Given the description of an element on the screen output the (x, y) to click on. 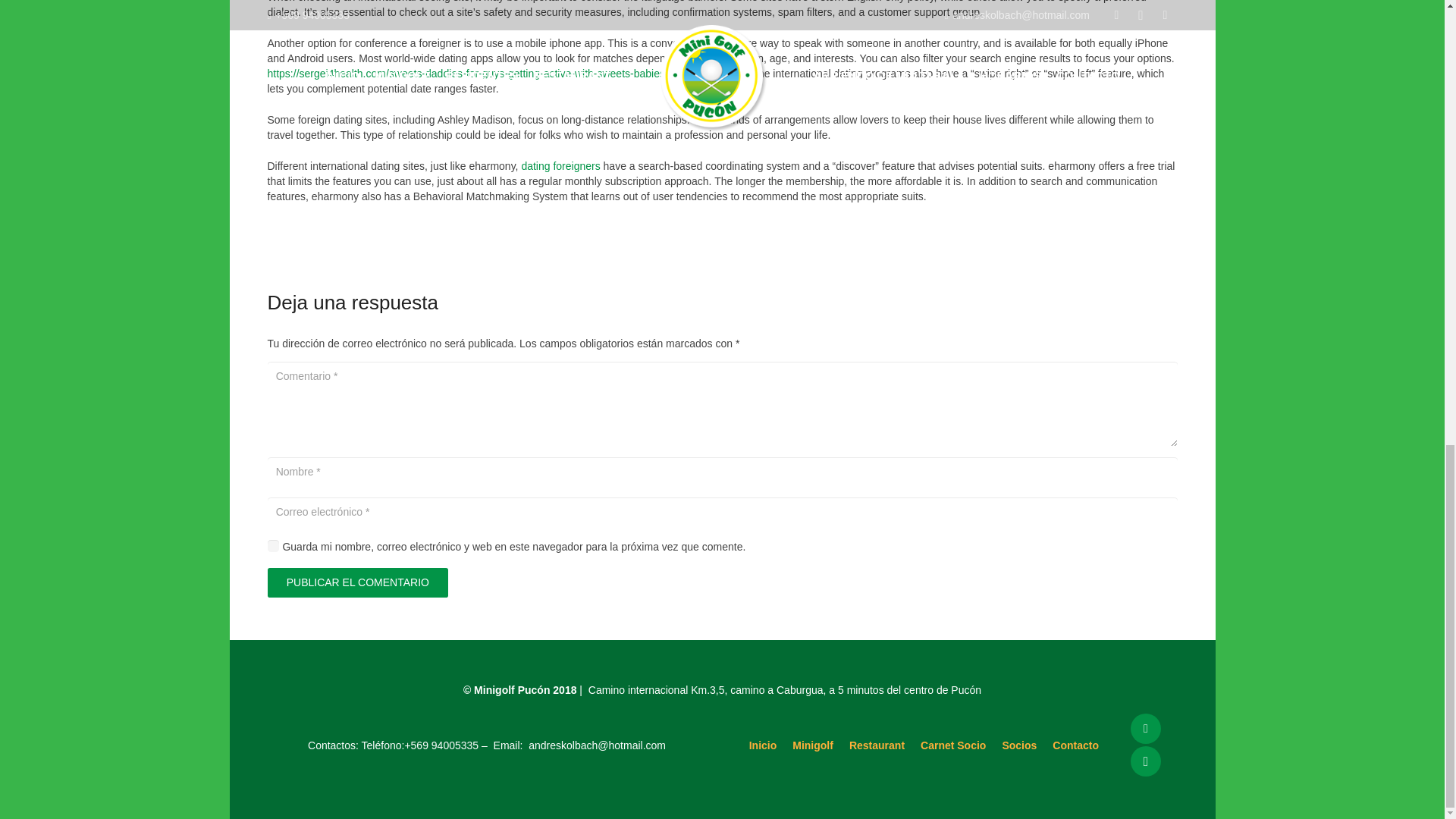
dating foreigners (560, 165)
Contacto (1075, 745)
Facebook (1145, 728)
Carnet Socio (952, 745)
PUBLICAR EL COMENTARIO (357, 582)
1 (272, 545)
Instagram (1145, 761)
Minigolf (812, 745)
Inicio (763, 745)
Socios (1018, 745)
Restaurant (876, 745)
